Given the description of an element on the screen output the (x, y) to click on. 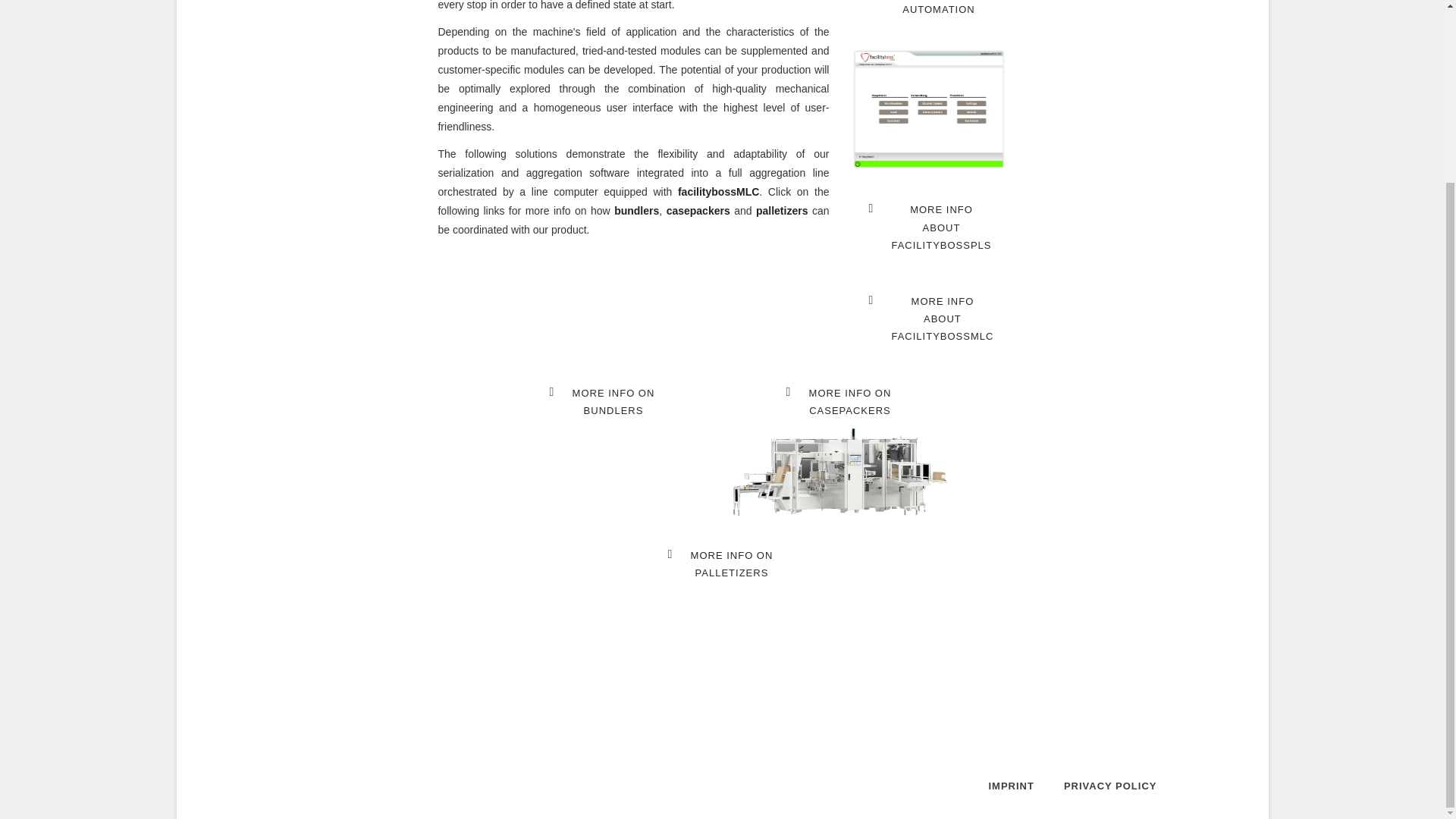
bundlers (636, 210)
facilitybossMLC (718, 191)
casepackers (841, 401)
palletizers (603, 401)
MORE INFO ABOUT FACILITYBOSSMLC (698, 210)
MORE INFO ABOUT FACILITYBOSSPLS (781, 210)
MORE INFO ABOUT PESTER PAC AUTOMATION (932, 318)
